Given the description of an element on the screen output the (x, y) to click on. 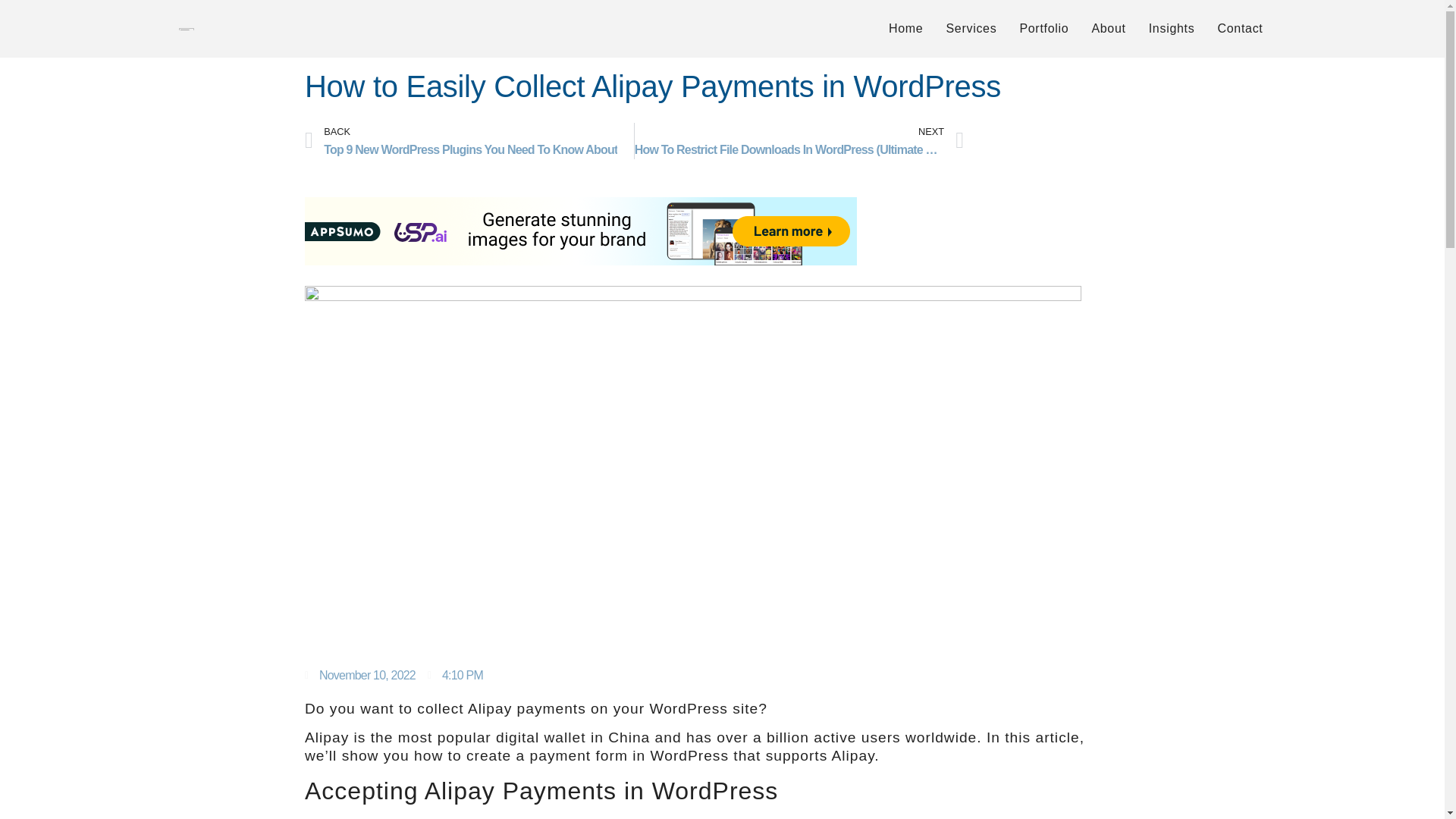
Insights (1172, 28)
Contact (1239, 28)
Services (468, 140)
WP Simple Pay (970, 28)
Portfolio (1108, 28)
Home (1043, 28)
